Given the description of an element on the screen output the (x, y) to click on. 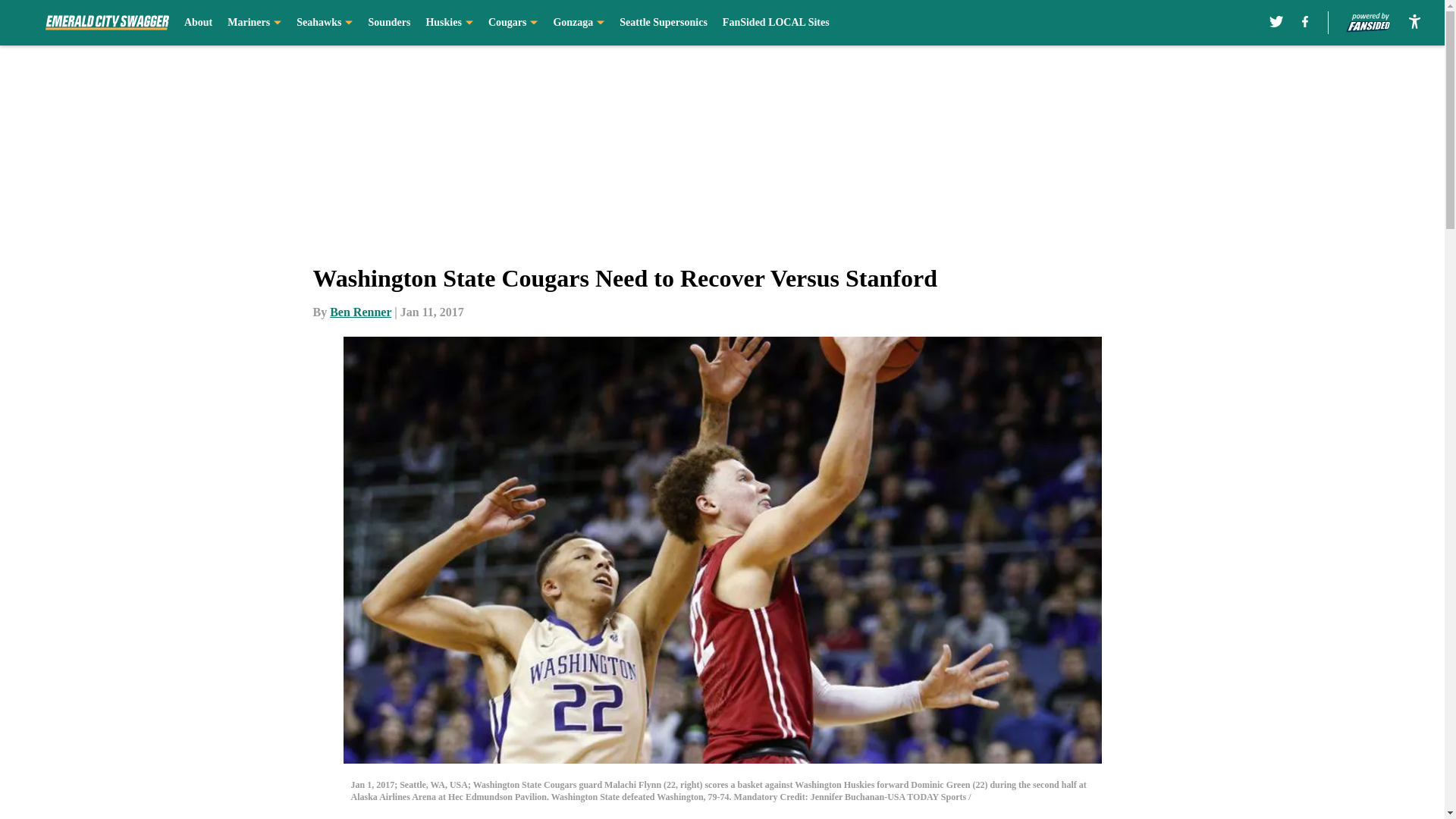
Seattle Supersonics (663, 22)
Sounders (389, 22)
FanSided LOCAL Sites (775, 22)
About (198, 22)
Ben Renner (360, 311)
